Given the description of an element on the screen output the (x, y) to click on. 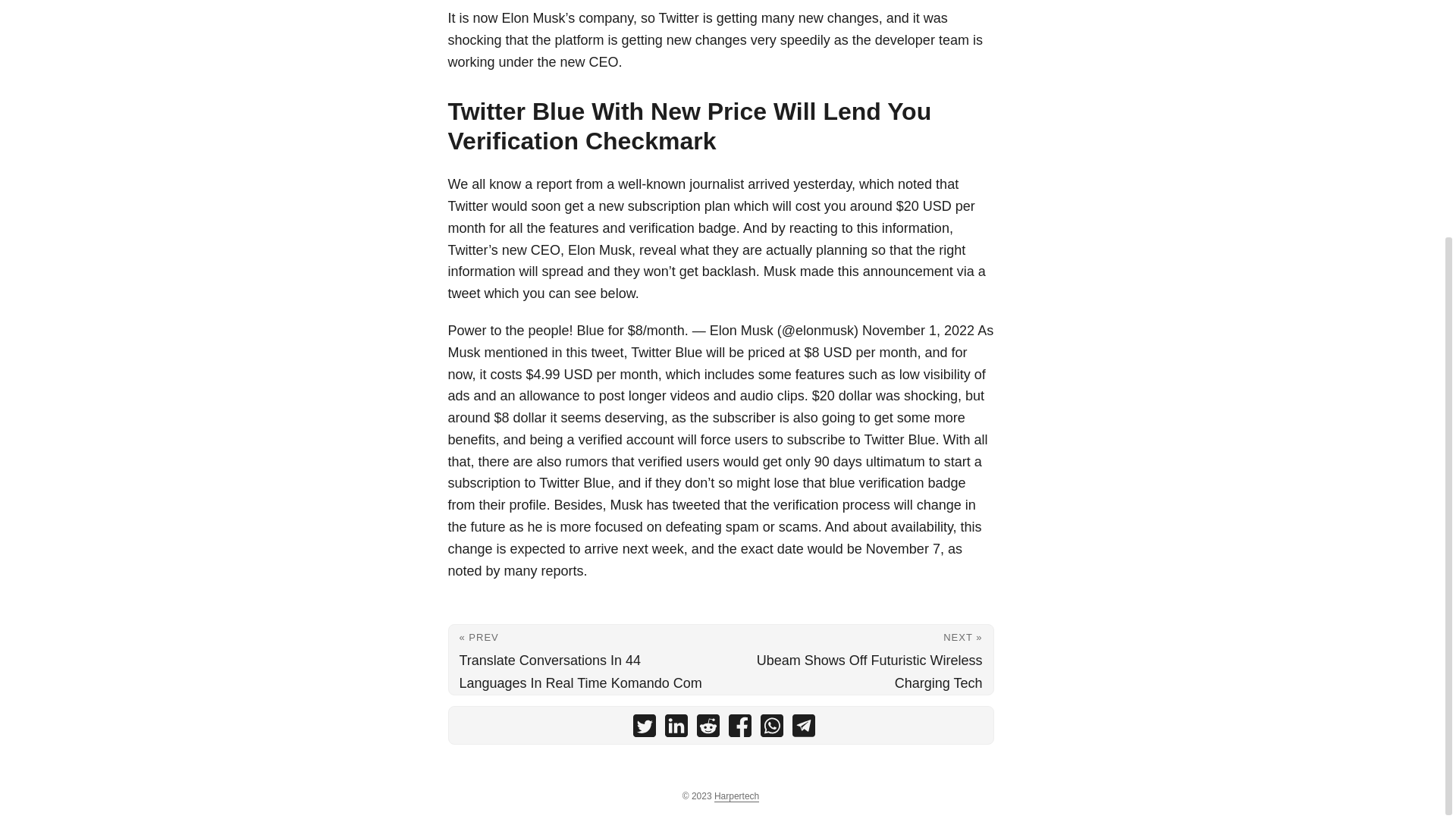
Harpertech (736, 796)
